Given the description of an element on the screen output the (x, y) to click on. 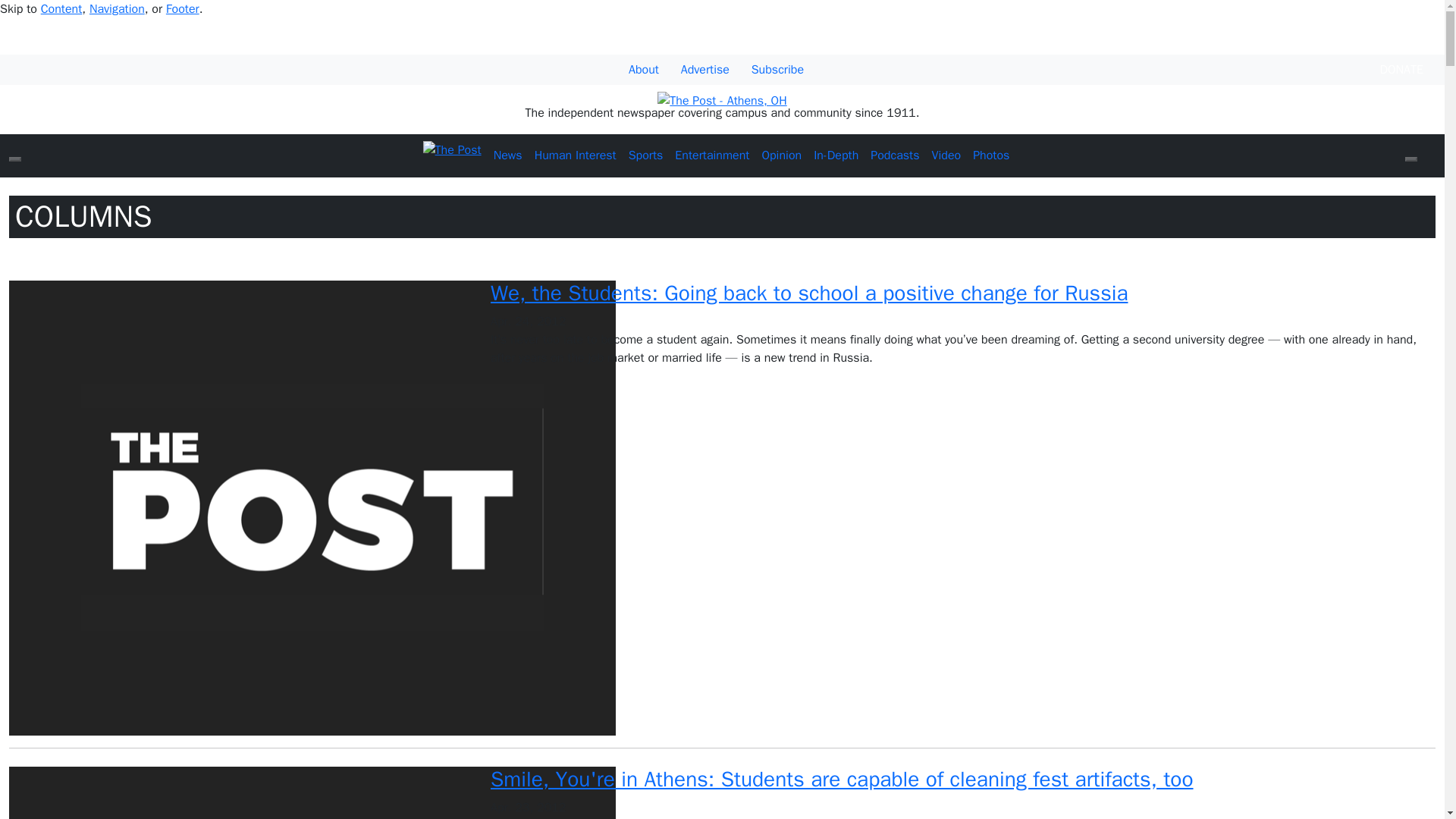
Entertainment (711, 155)
Sports (646, 155)
Video (945, 155)
Human Interest (575, 155)
Podcasts (894, 155)
Footer (182, 8)
Sports (646, 155)
Photos (990, 155)
Human Interest (575, 155)
In-Depth (836, 155)
Content (61, 8)
Entertainment (711, 155)
Opinion (781, 155)
Subscribe (777, 69)
